Given the description of an element on the screen output the (x, y) to click on. 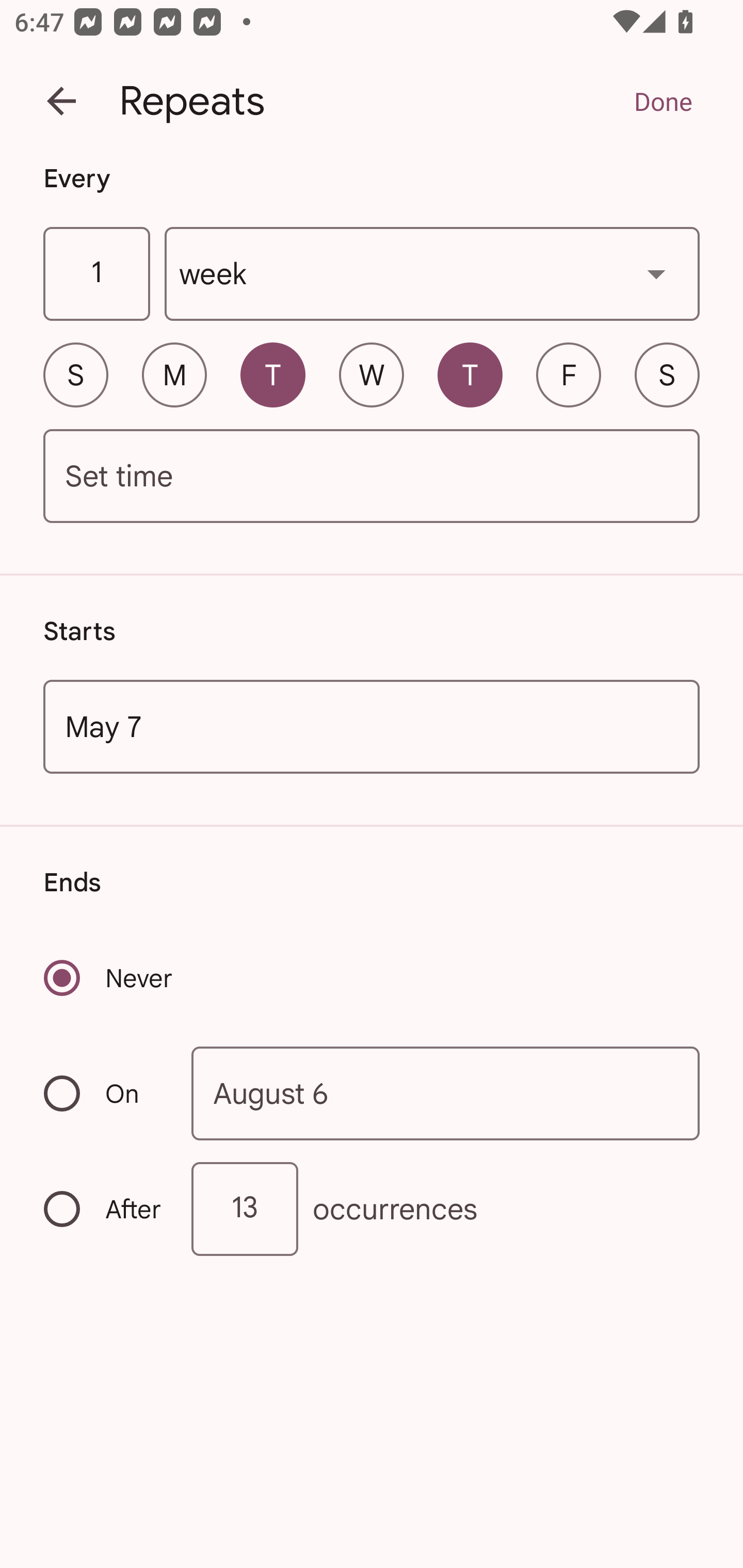
Back (61, 101)
Done (663, 101)
1 (96, 274)
week (431, 274)
Show dropdown menu (655, 273)
S Sunday (75, 374)
M Monday (173, 374)
T Tuesday, selected (272, 374)
W Wednesday (371, 374)
T Thursday, selected (469, 374)
F Friday (568, 374)
S Saturday (666, 374)
Set time (371, 476)
May 7 (371, 726)
Never Recurrence never ends (109, 978)
August 6 (445, 1092)
On Recurrence ends on a specific date (104, 1093)
13 (244, 1208)
